Given the description of an element on the screen output the (x, y) to click on. 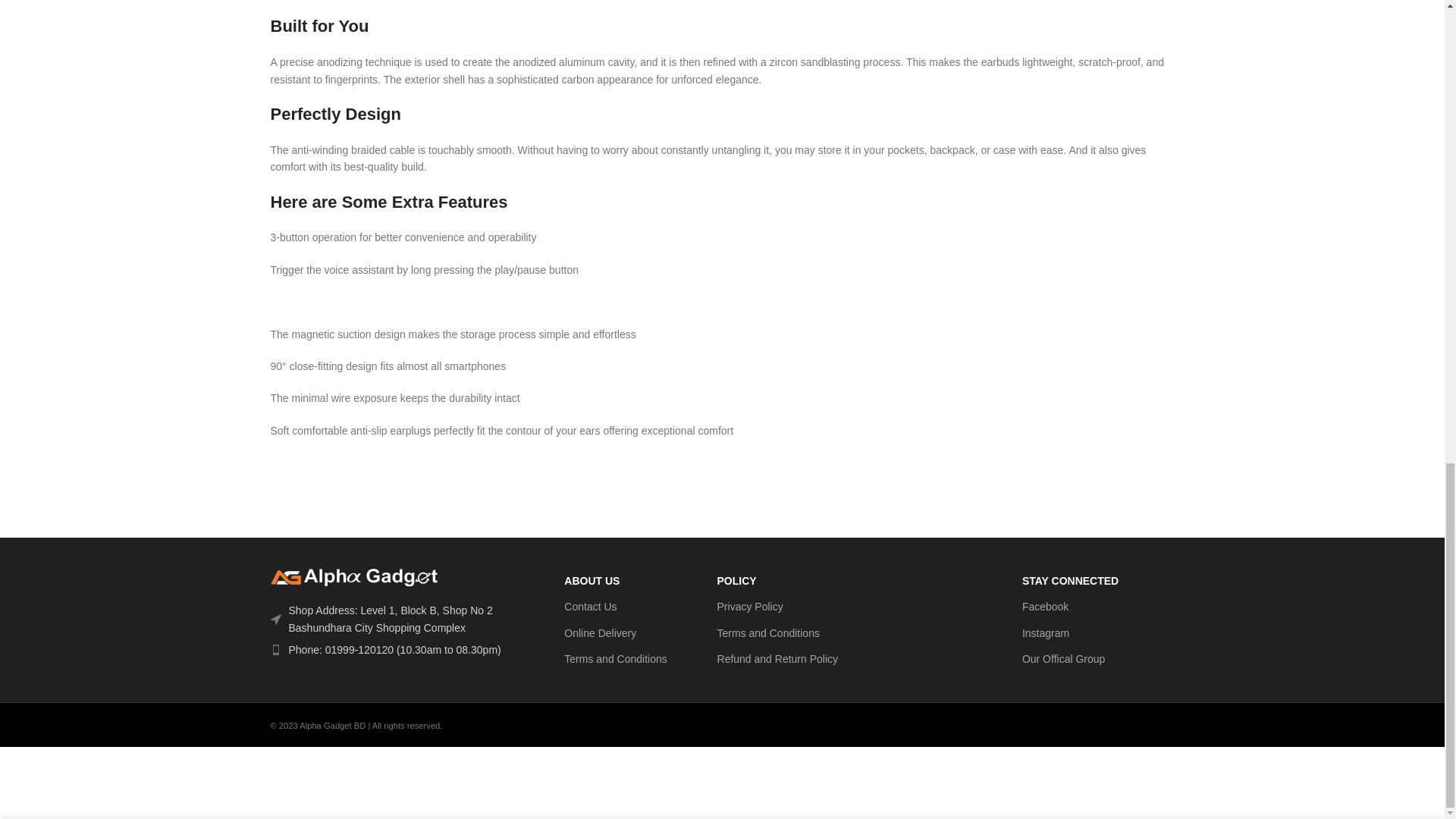
wd-cursor-dark.svg (275, 619)
wd-phone-dark.svg (275, 649)
